Given the description of an element on the screen output the (x, y) to click on. 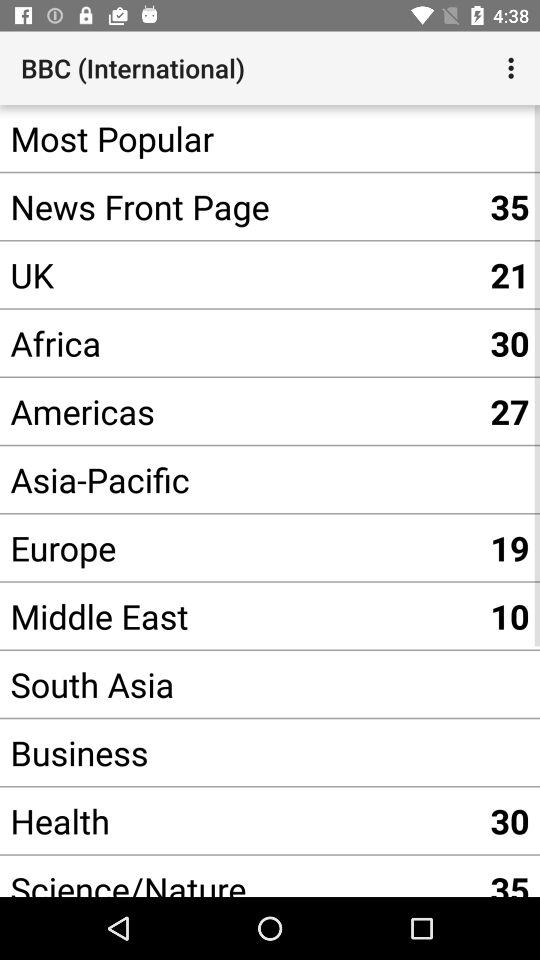
turn off the americas app (240, 411)
